Given the description of an element on the screen output the (x, y) to click on. 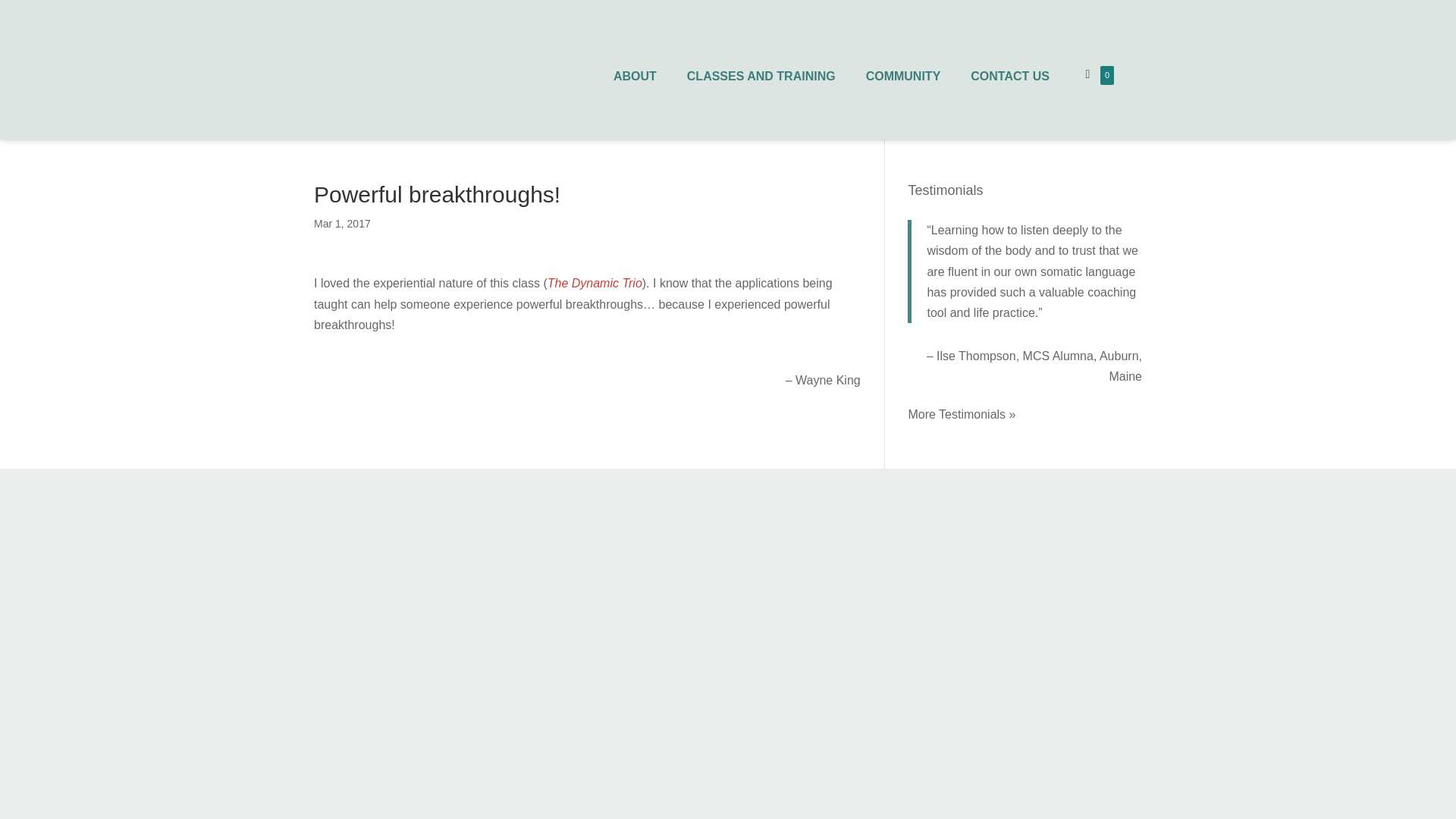
ABOUT (634, 76)
CLASSES AND TRAINING (760, 76)
COMMUNITY (903, 76)
Cart (1088, 74)
